Given the description of an element on the screen output the (x, y) to click on. 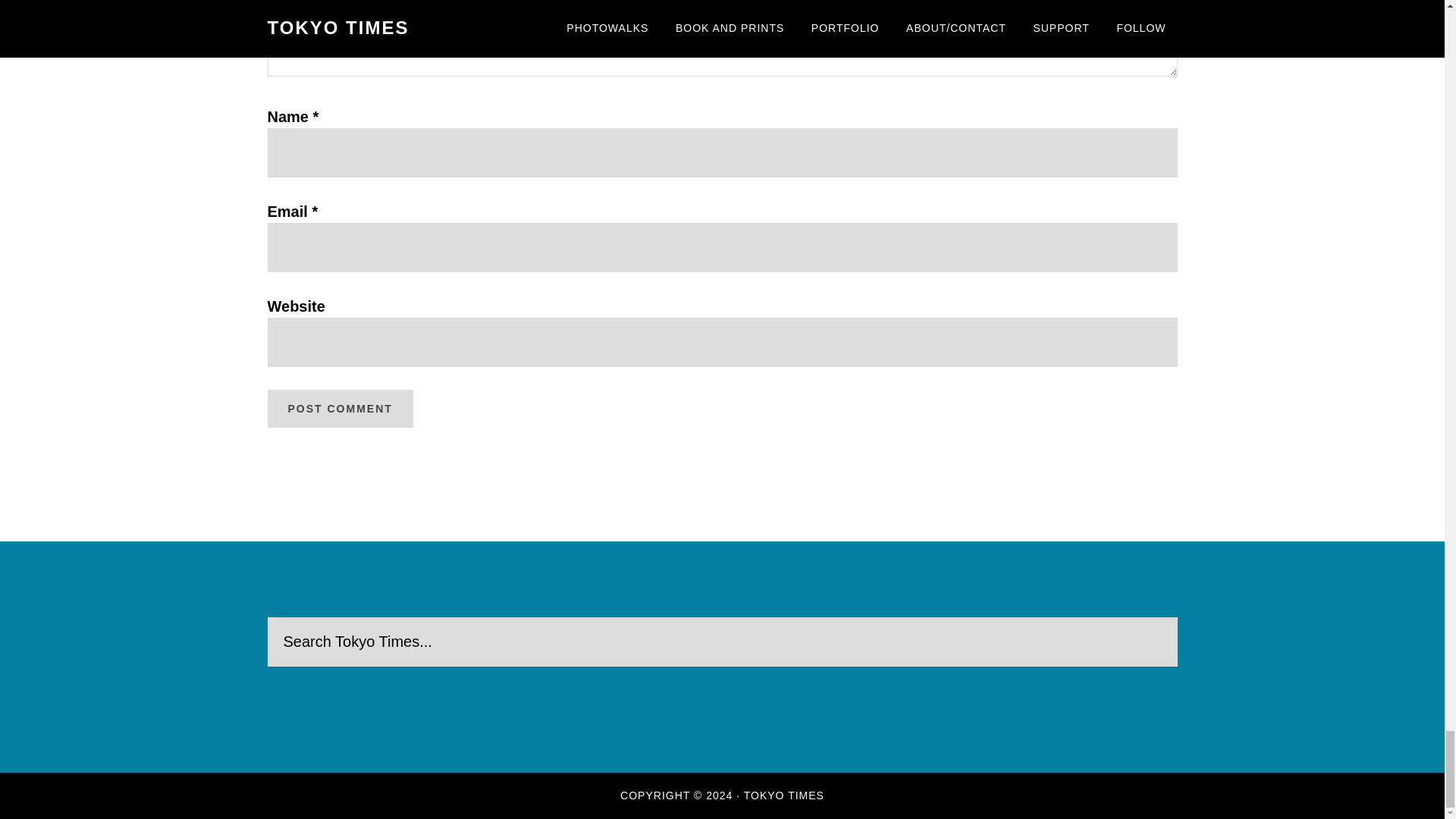
Post Comment (339, 408)
